Given the description of an element on the screen output the (x, y) to click on. 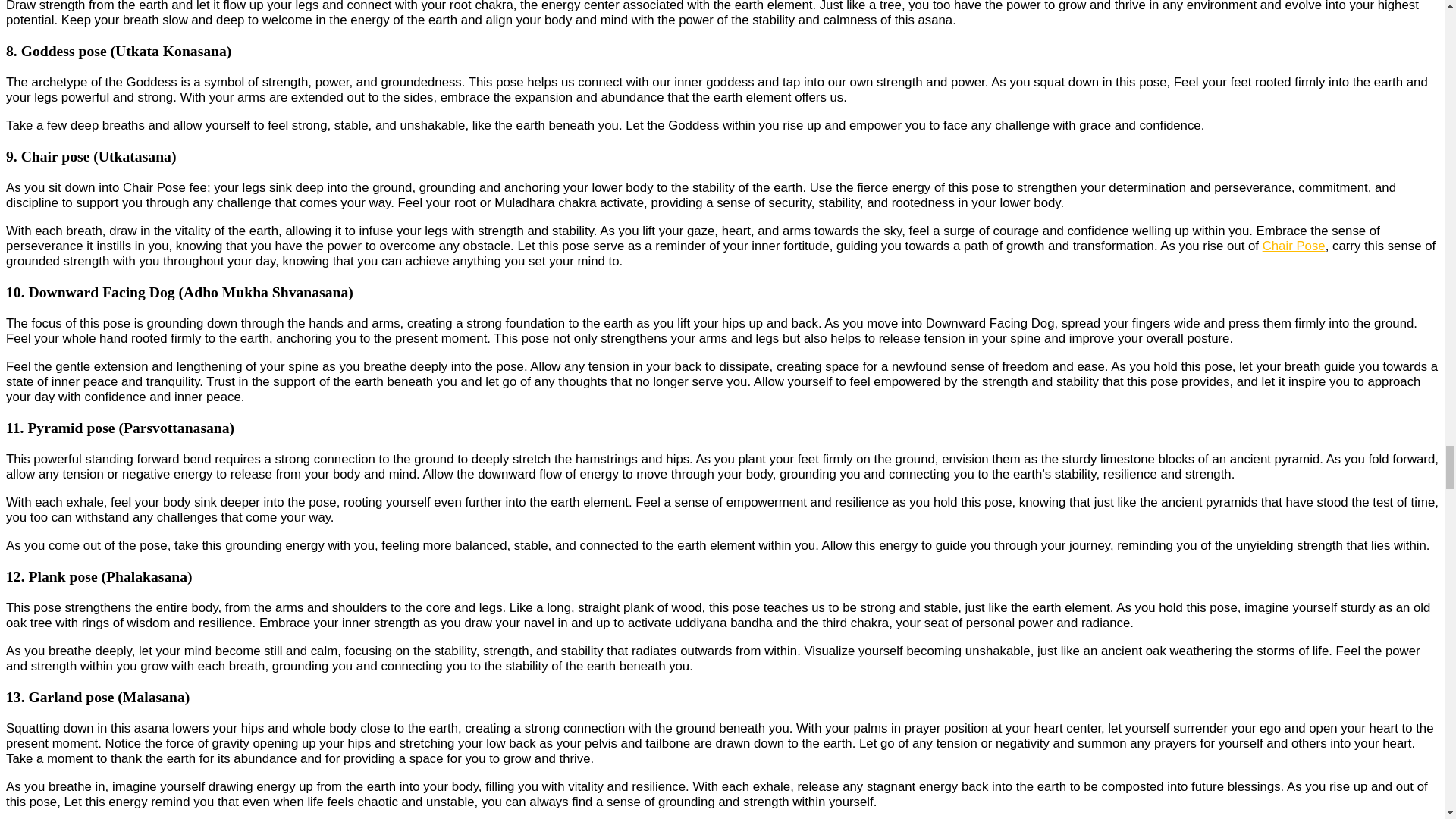
Chair Pose (1293, 246)
